Given the description of an element on the screen output the (x, y) to click on. 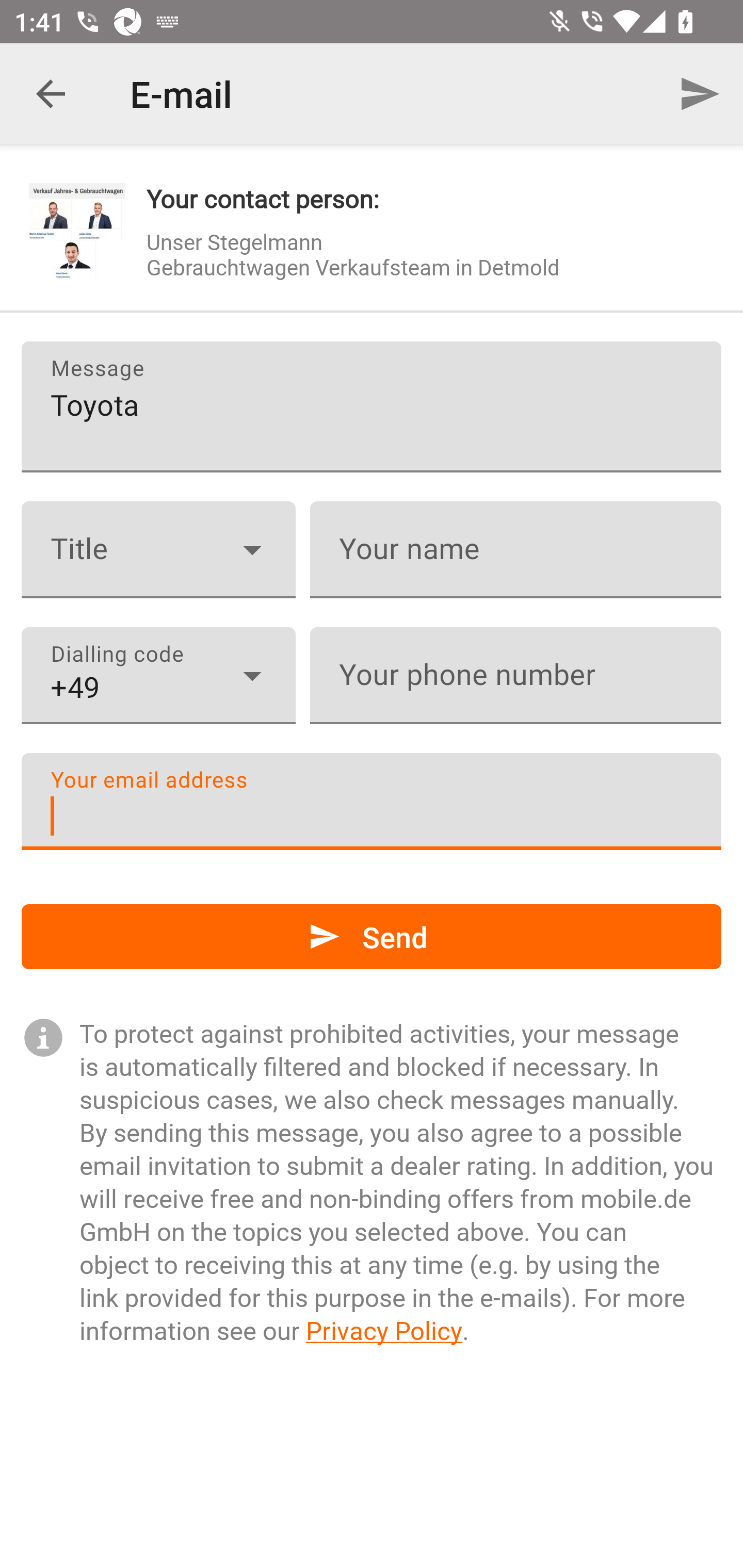
Navigate up (50, 93)
Send (699, 93)
Toyota
 (371, 406)
Title (158, 549)
Your name (515, 549)
Show dropdown menu (251, 549)
+49 (158, 675)
Your phone number (515, 675)
Show dropdown menu (251, 675)
Your email address (371, 800)
Send (371, 936)
